Given the description of an element on the screen output the (x, y) to click on. 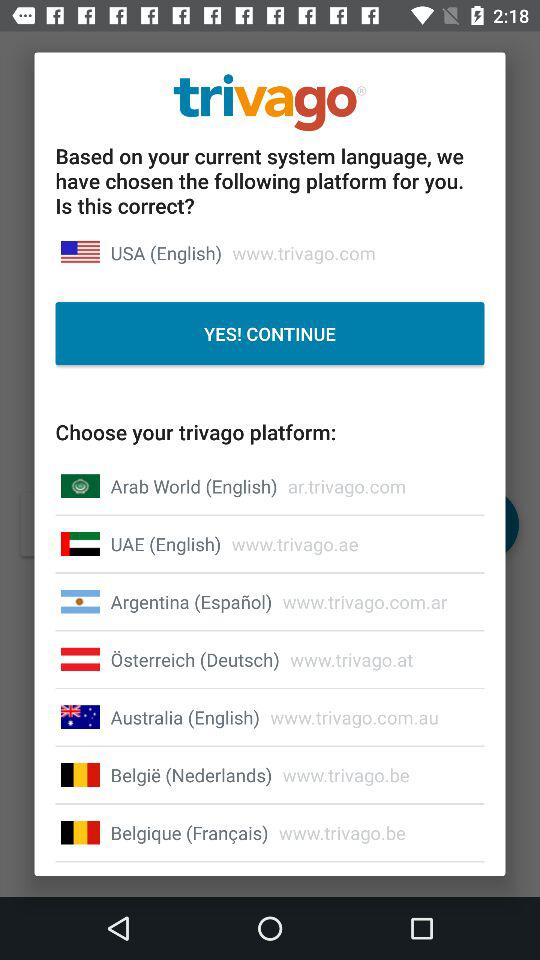
select the icon below uae (english) (191, 601)
